Given the description of an element on the screen output the (x, y) to click on. 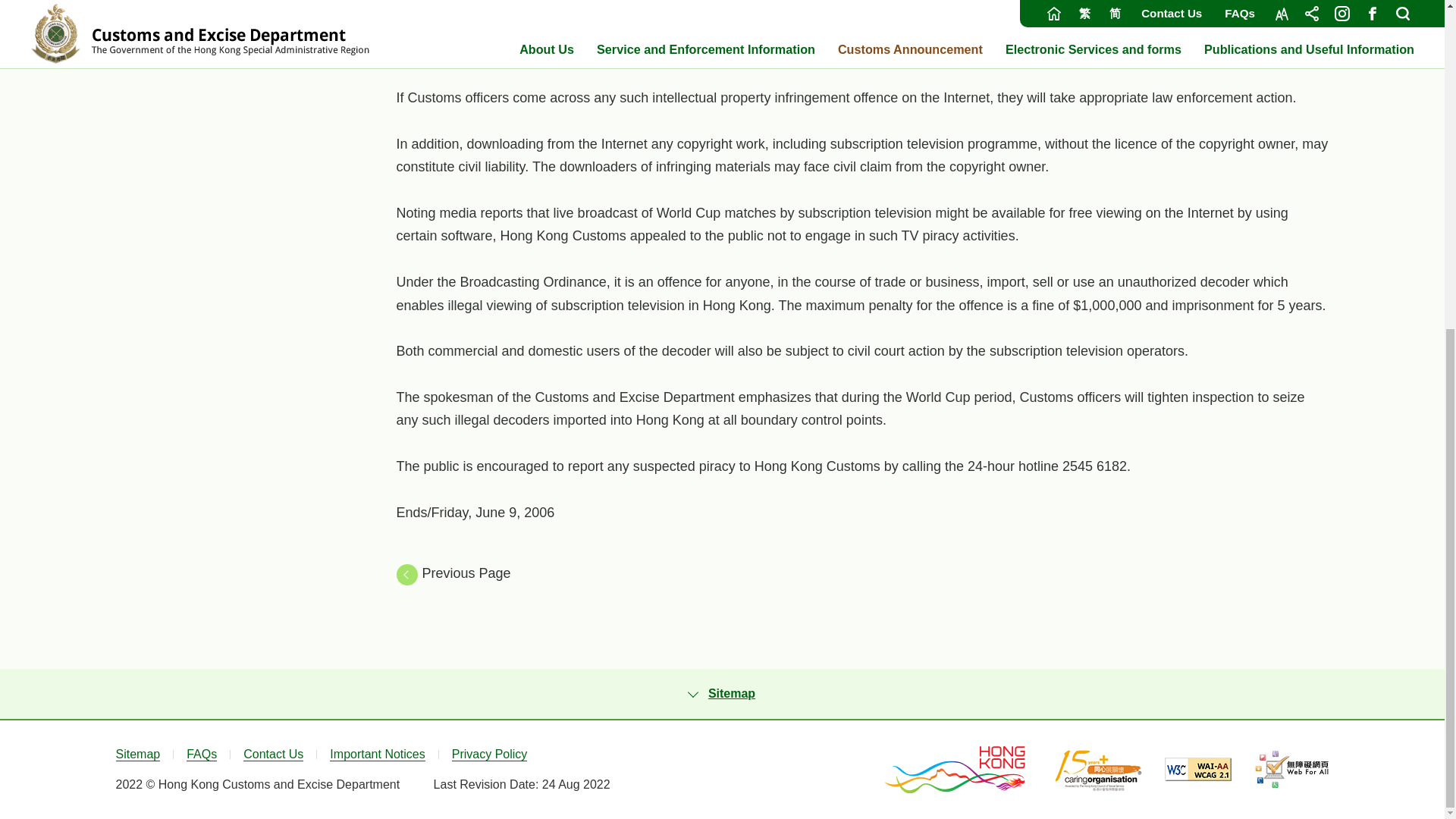
Caring Organisation, This link will open in new window (1097, 769)
WCAG 2.1 AA, This link will open in new window (1197, 769)
